Given the description of an element on the screen output the (x, y) to click on. 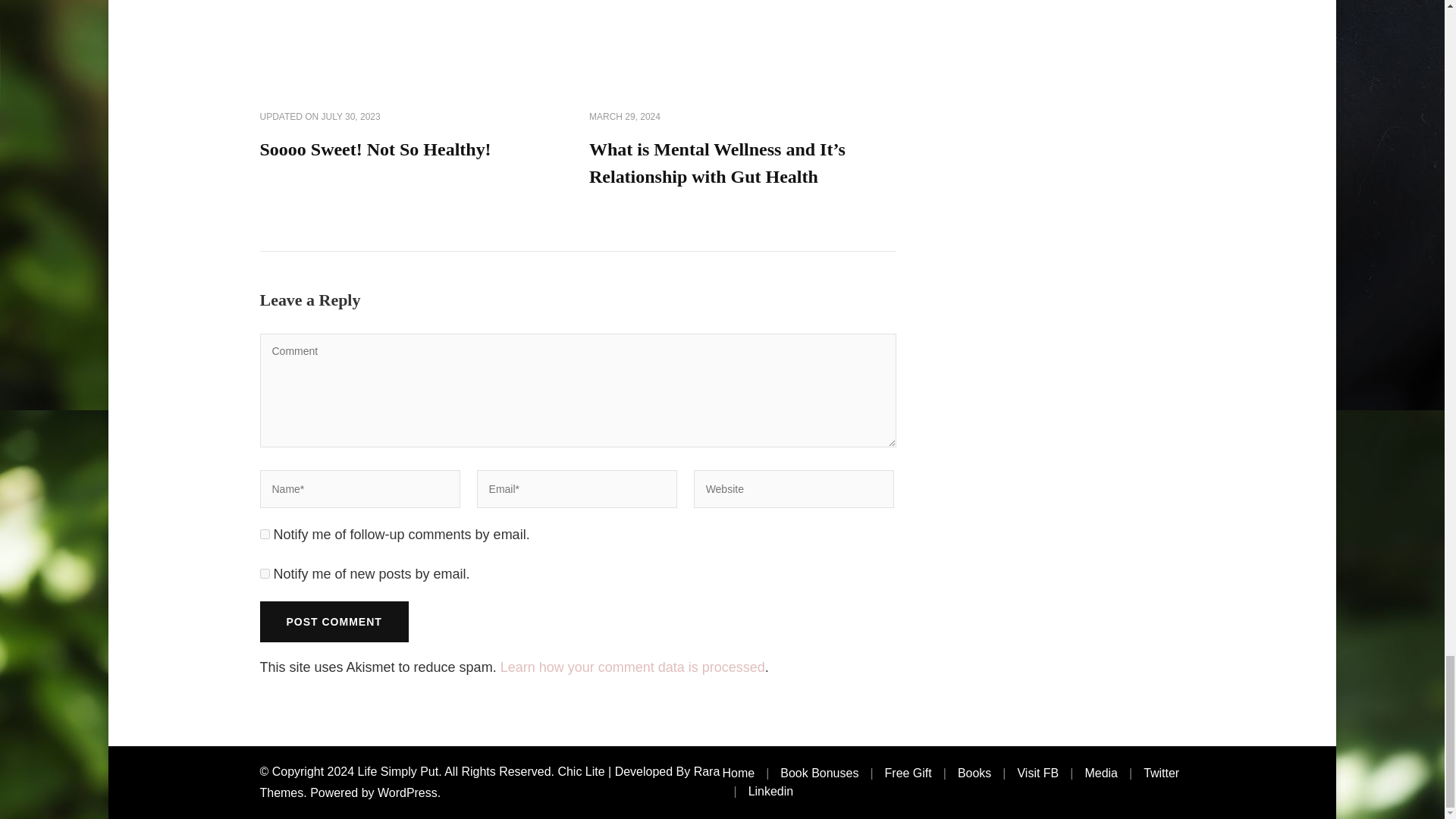
subscribe (264, 533)
subscribe (264, 573)
Post Comment (333, 621)
